Given the description of an element on the screen output the (x, y) to click on. 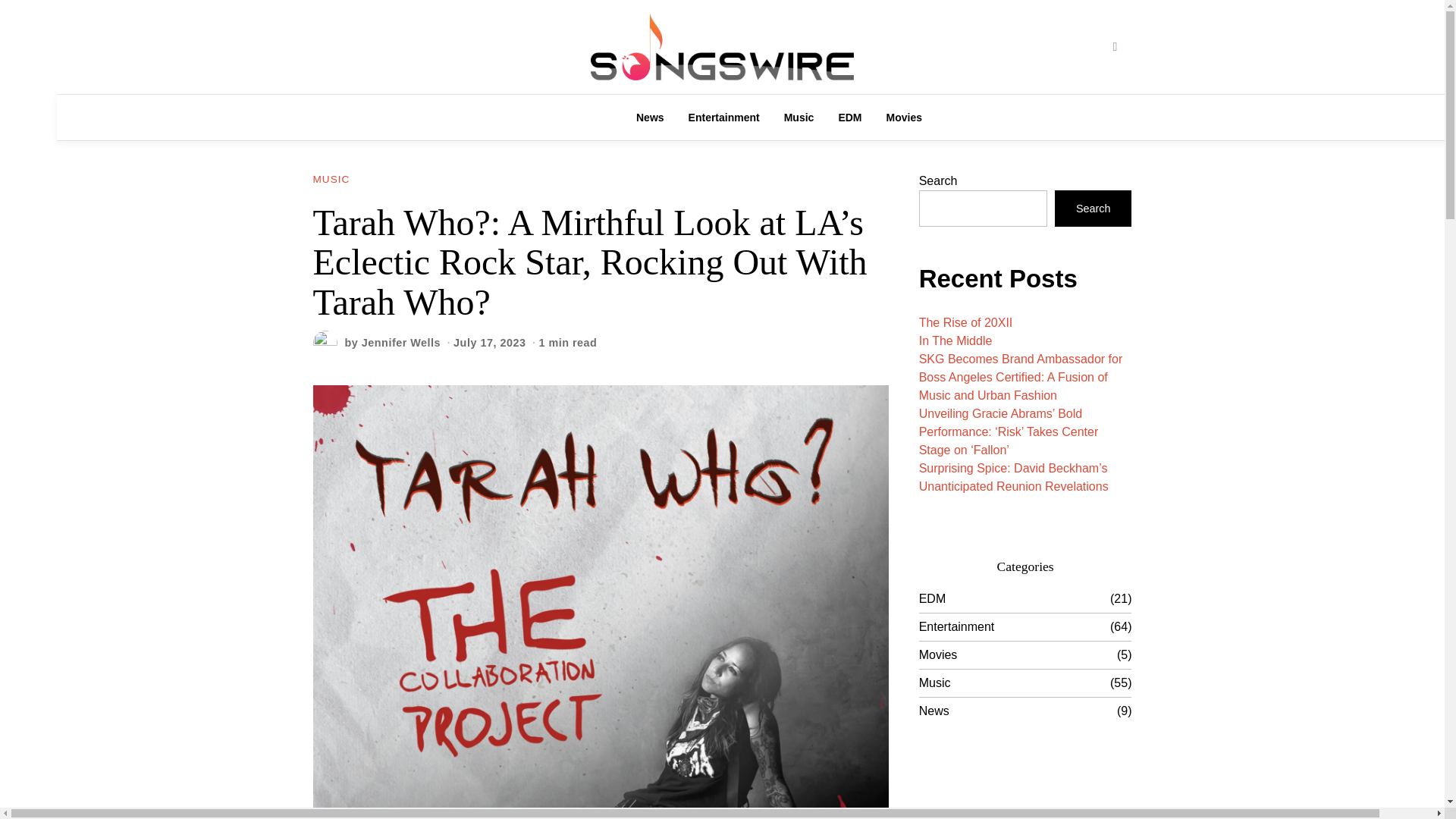
Jennifer Wells (401, 342)
News (650, 117)
Movies (904, 117)
MUSIC (331, 179)
EDM (849, 117)
Entertainment (724, 117)
Go (1114, 46)
Music (799, 117)
